Given the description of an element on the screen output the (x, y) to click on. 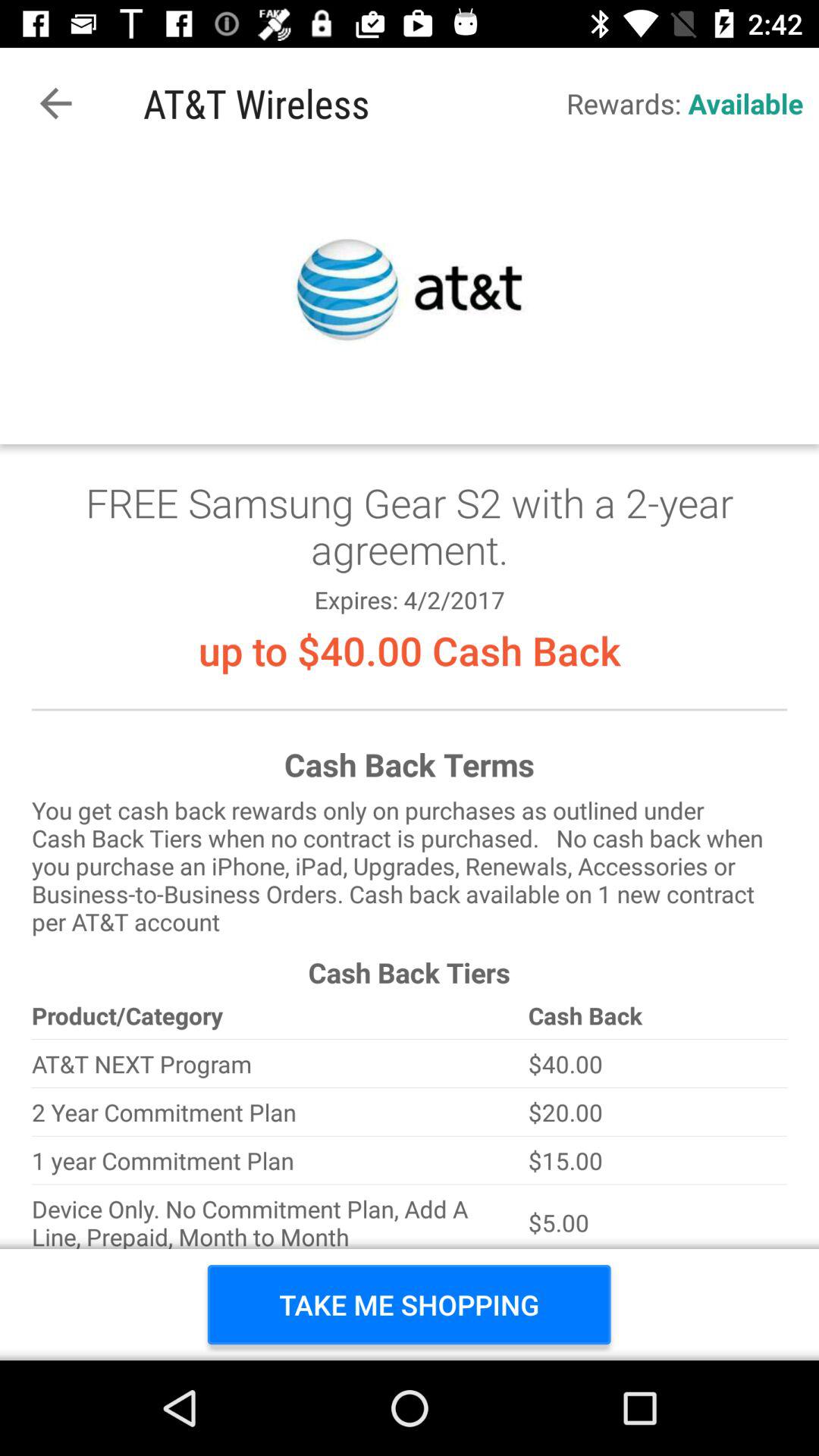
flip until the take me shopping (408, 1304)
